Given the description of an element on the screen output the (x, y) to click on. 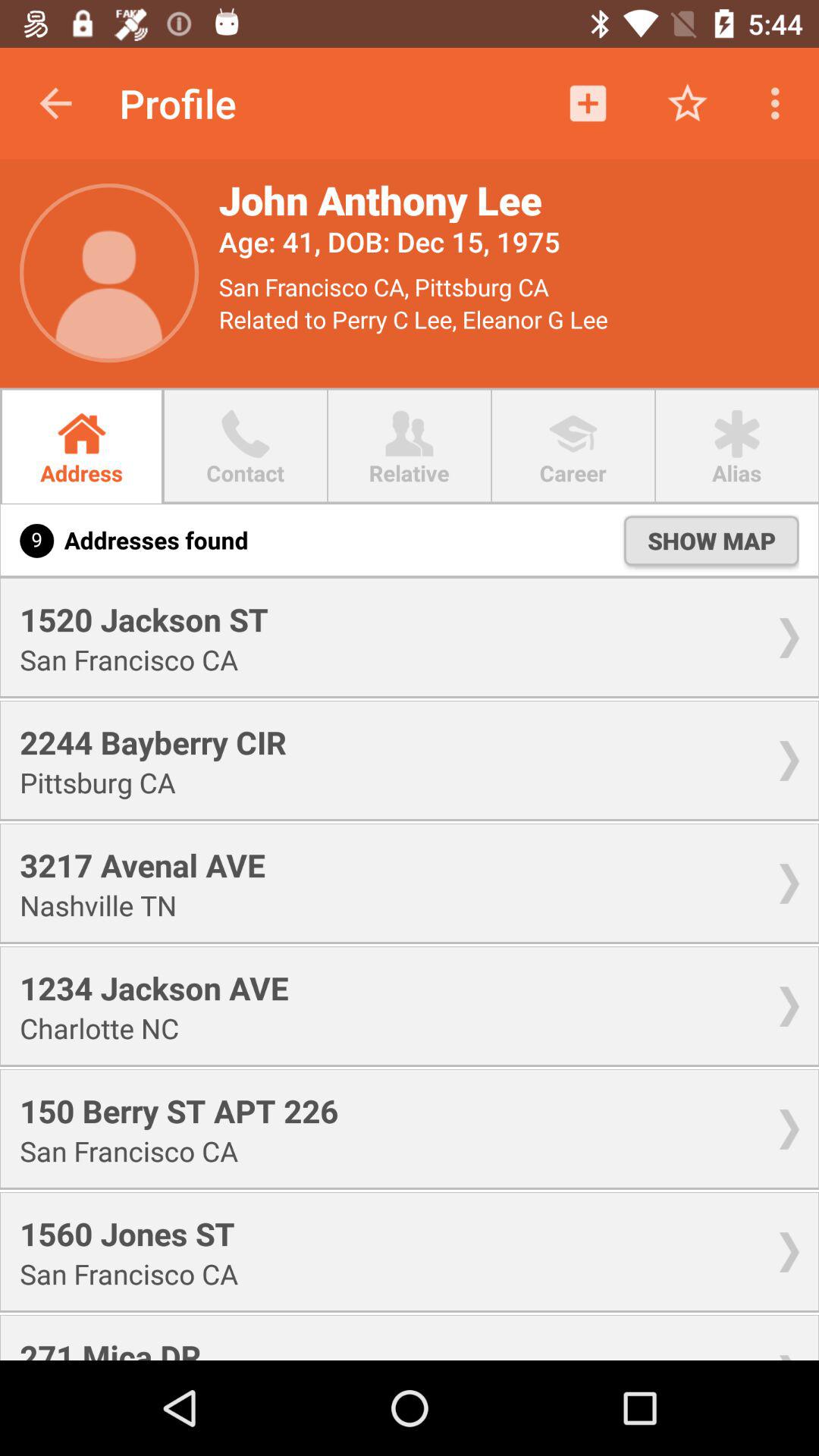
click on the second button right to address in the menu bar (245, 445)
click on icon alias (737, 434)
click on profile picture icon (109, 272)
click on the icon with the text career (573, 434)
click on the  icon beside the star icon (588, 103)
